Given the description of an element on the screen output the (x, y) to click on. 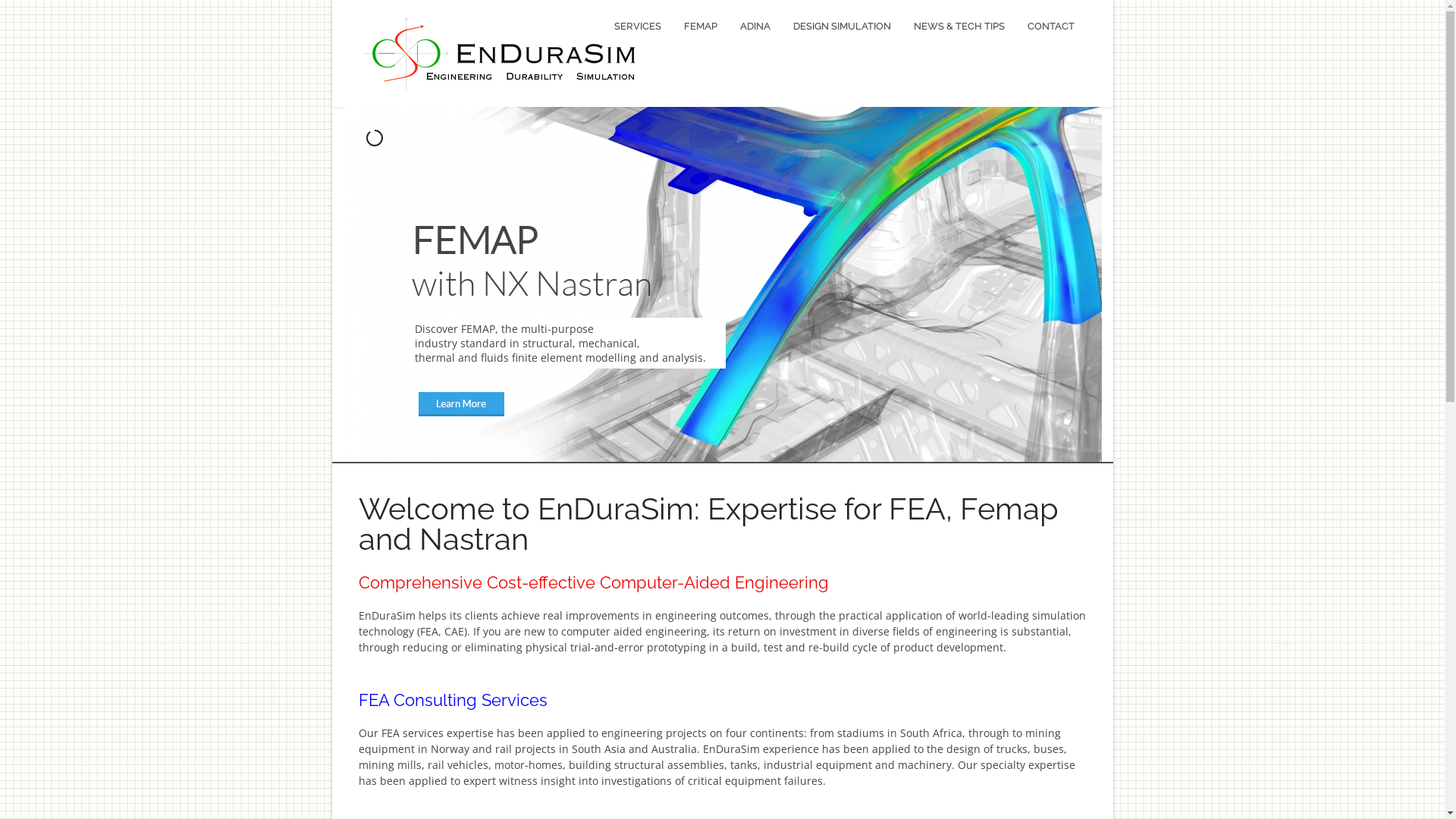
NEWS & TECH TIPS Element type: text (959, 26)
EnDuraSim Element type: hover (500, 55)
ADINA Element type: text (754, 26)
FEA Consulting Services Element type: text (451, 699)
CONTACT Element type: text (1050, 26)
SERVICES Element type: text (636, 26)
DESIGN SIMULATION Element type: text (841, 26)
FEMAP Element type: text (699, 26)
